Given the description of an element on the screen output the (x, y) to click on. 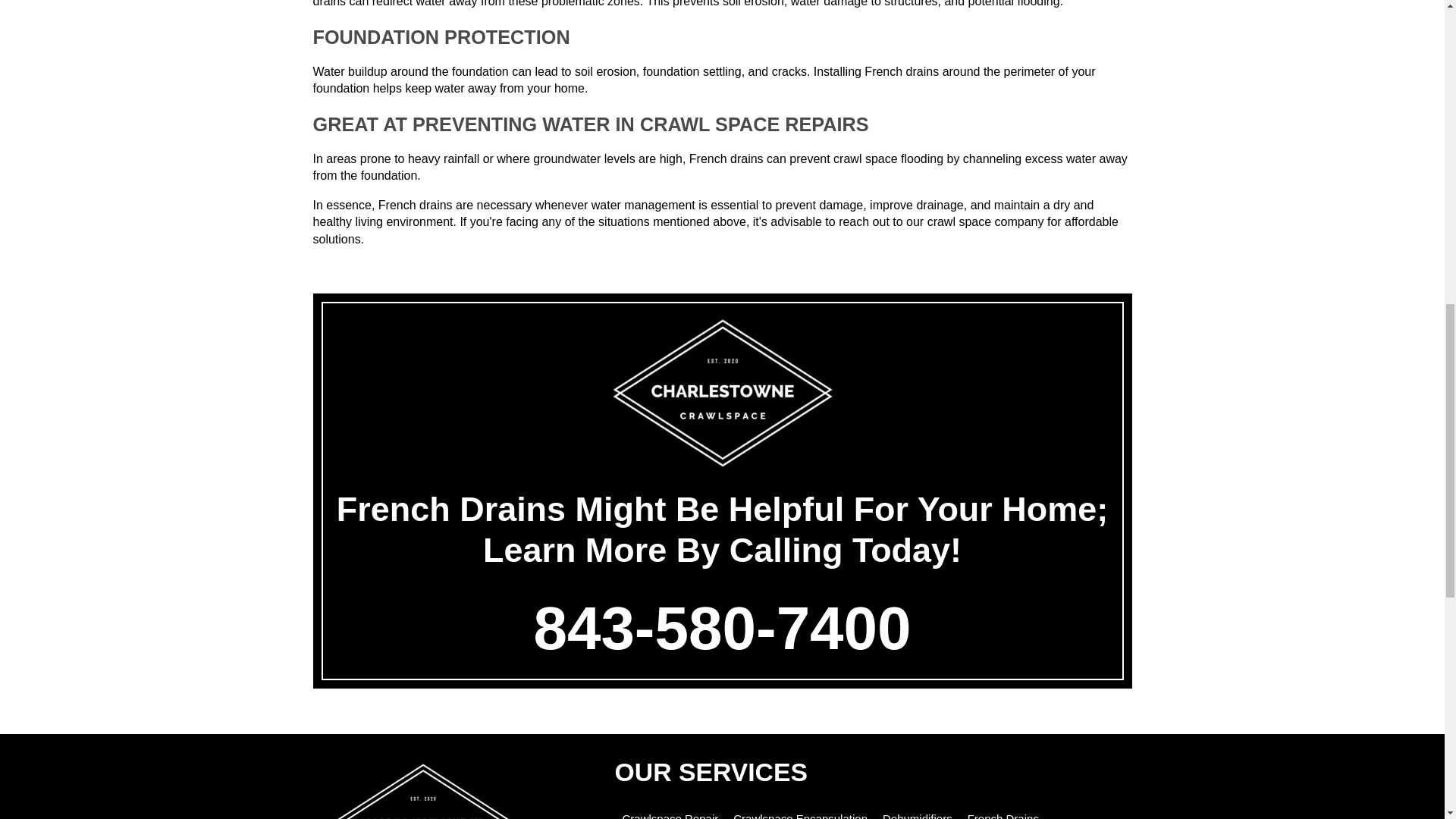
French Drains (1003, 815)
843-580-7400 (721, 627)
Crawlspace Repair (669, 815)
Crawlspace Encapsulation (800, 815)
Dehumidifiers (917, 815)
